Given the description of an element on the screen output the (x, y) to click on. 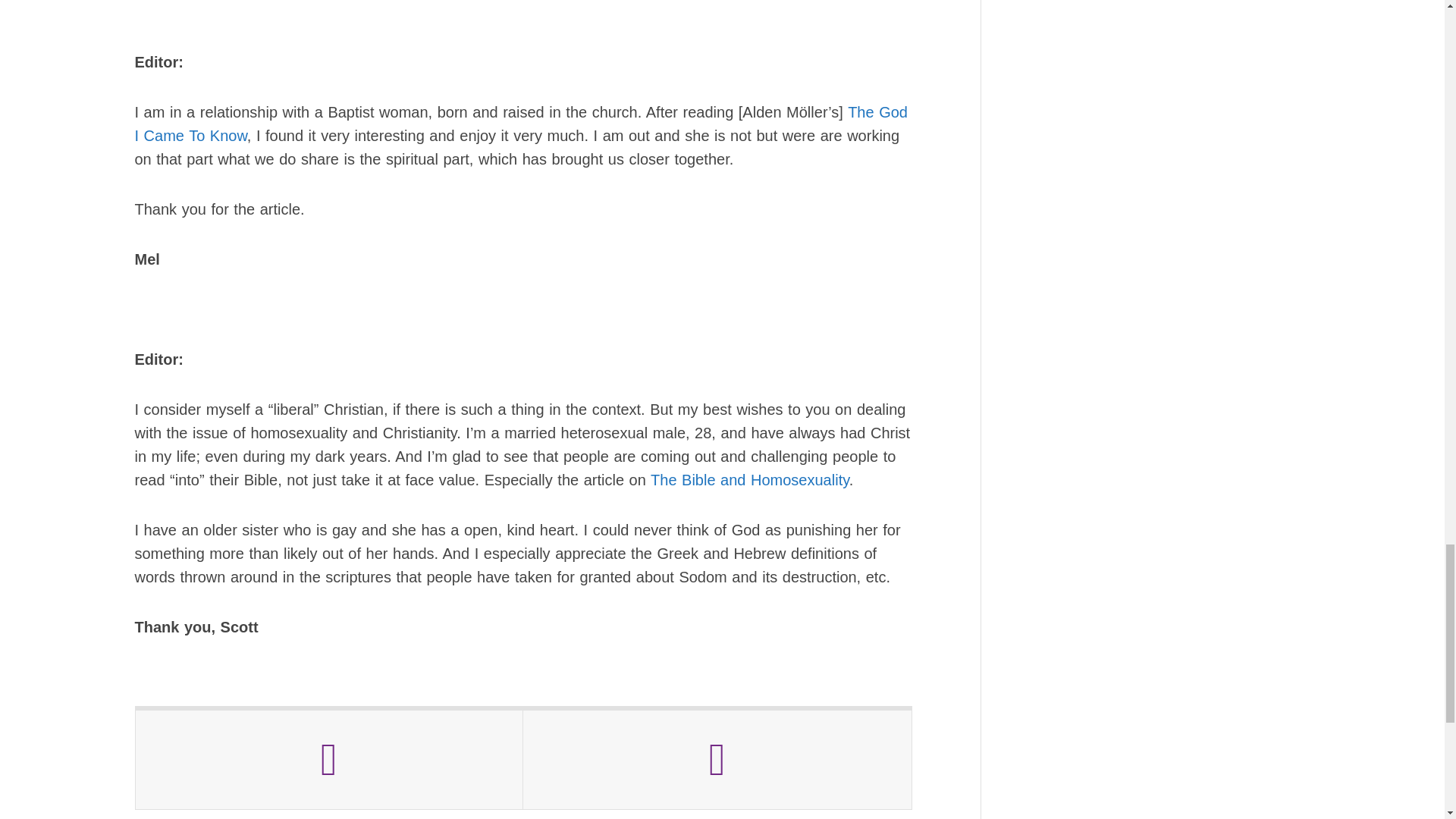
The Bible and Homosexuality (749, 479)
Next Post (716, 759)
The God I Came To Know (521, 124)
Previous Post (328, 759)
